Given the description of an element on the screen output the (x, y) to click on. 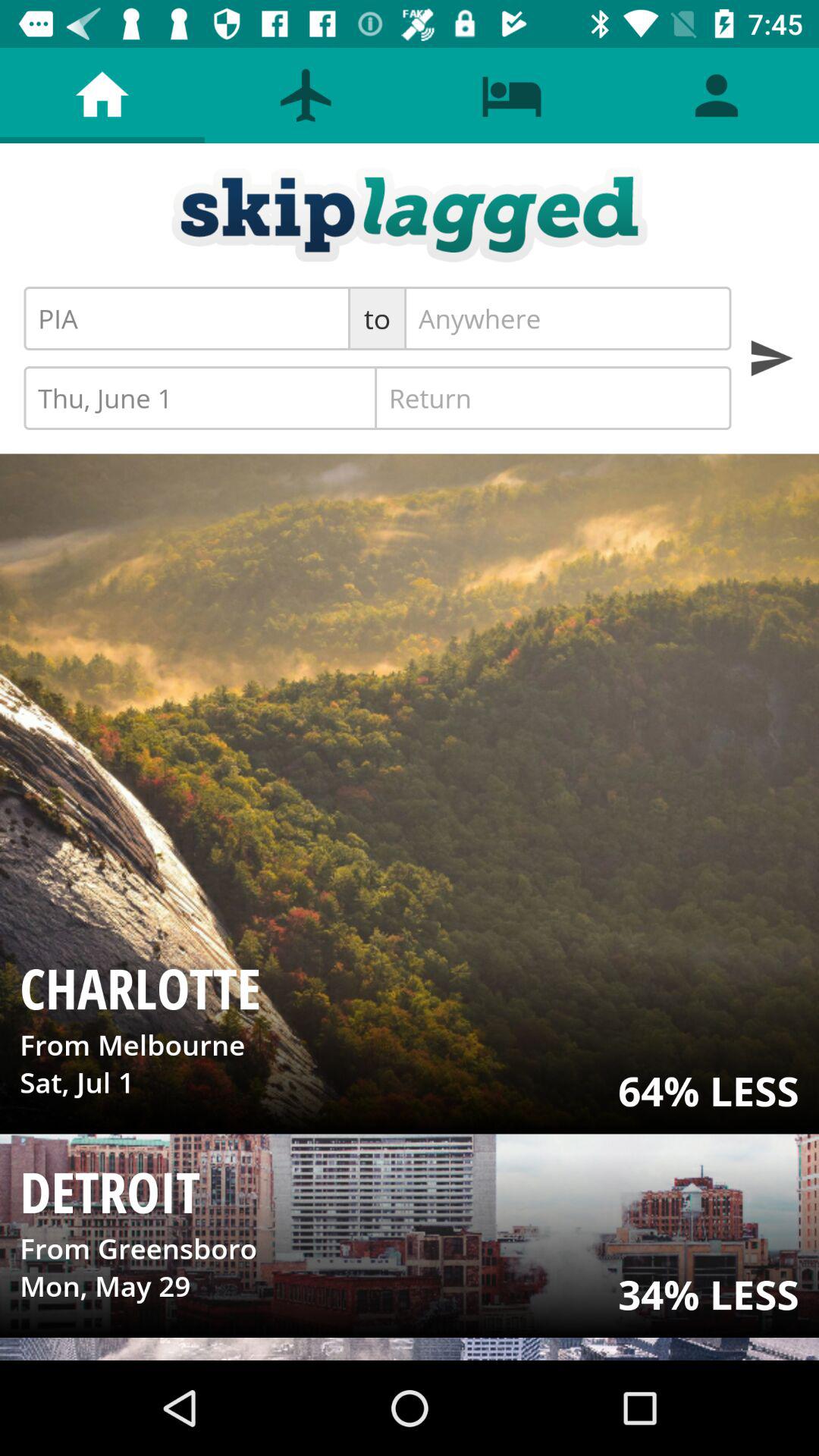
enter destination (567, 318)
